Given the description of an element on the screen output the (x, y) to click on. 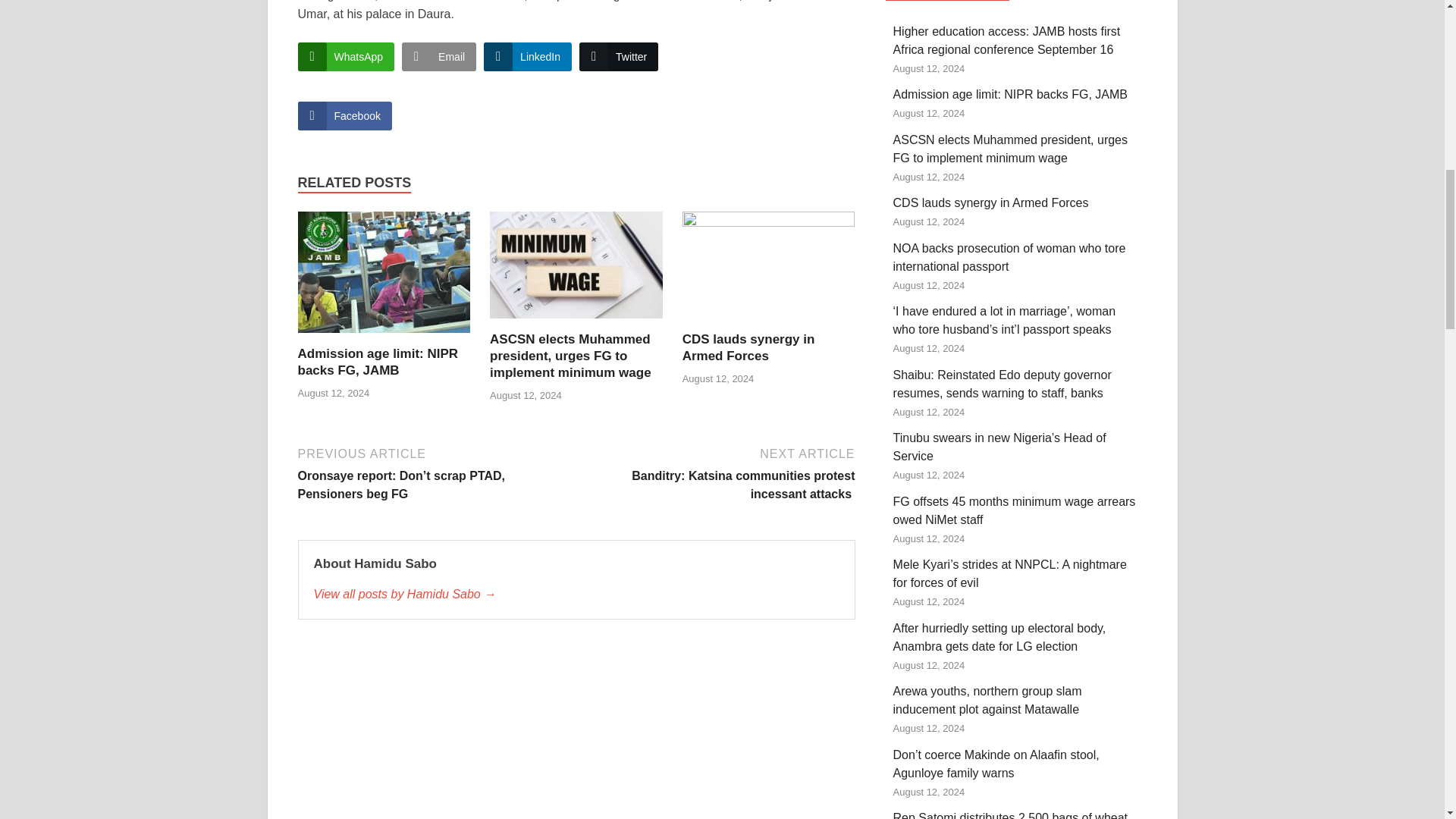
Hamidu Sabo (577, 594)
Admission age limit: NIPR backs FG, JAMB (377, 361)
Admission age limit: NIPR backs FG, JAMB (383, 277)
CDS lauds synergy in Armed Forces (769, 269)
CDS lauds synergy in Armed Forces (748, 347)
